Given the description of an element on the screen output the (x, y) to click on. 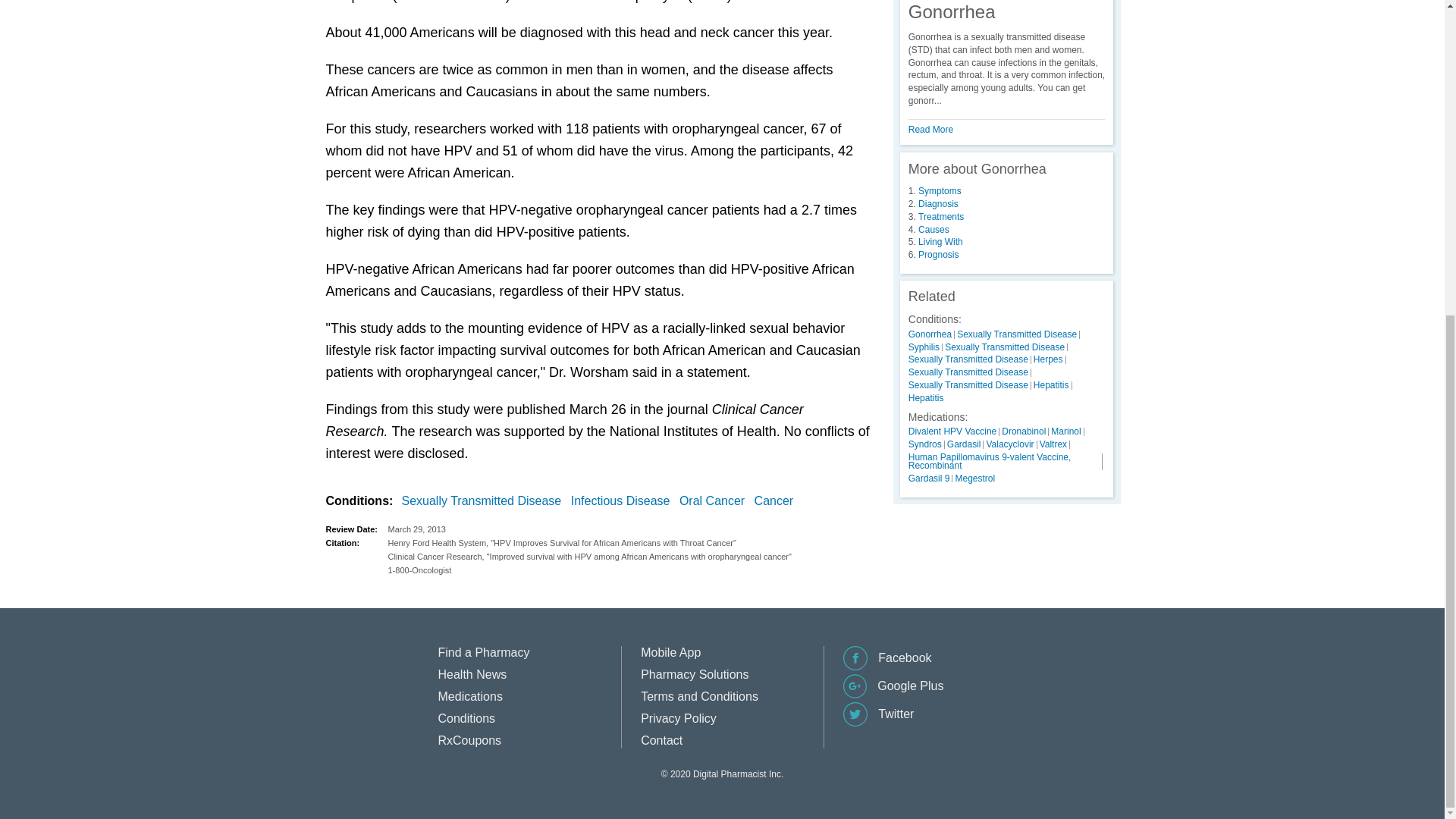
Cancer (776, 501)
1-800-Oncologist (630, 570)
Infectious Disease (623, 501)
Sexually Transmitted Disease (484, 501)
Oral Cancer (715, 501)
